Given the description of an element on the screen output the (x, y) to click on. 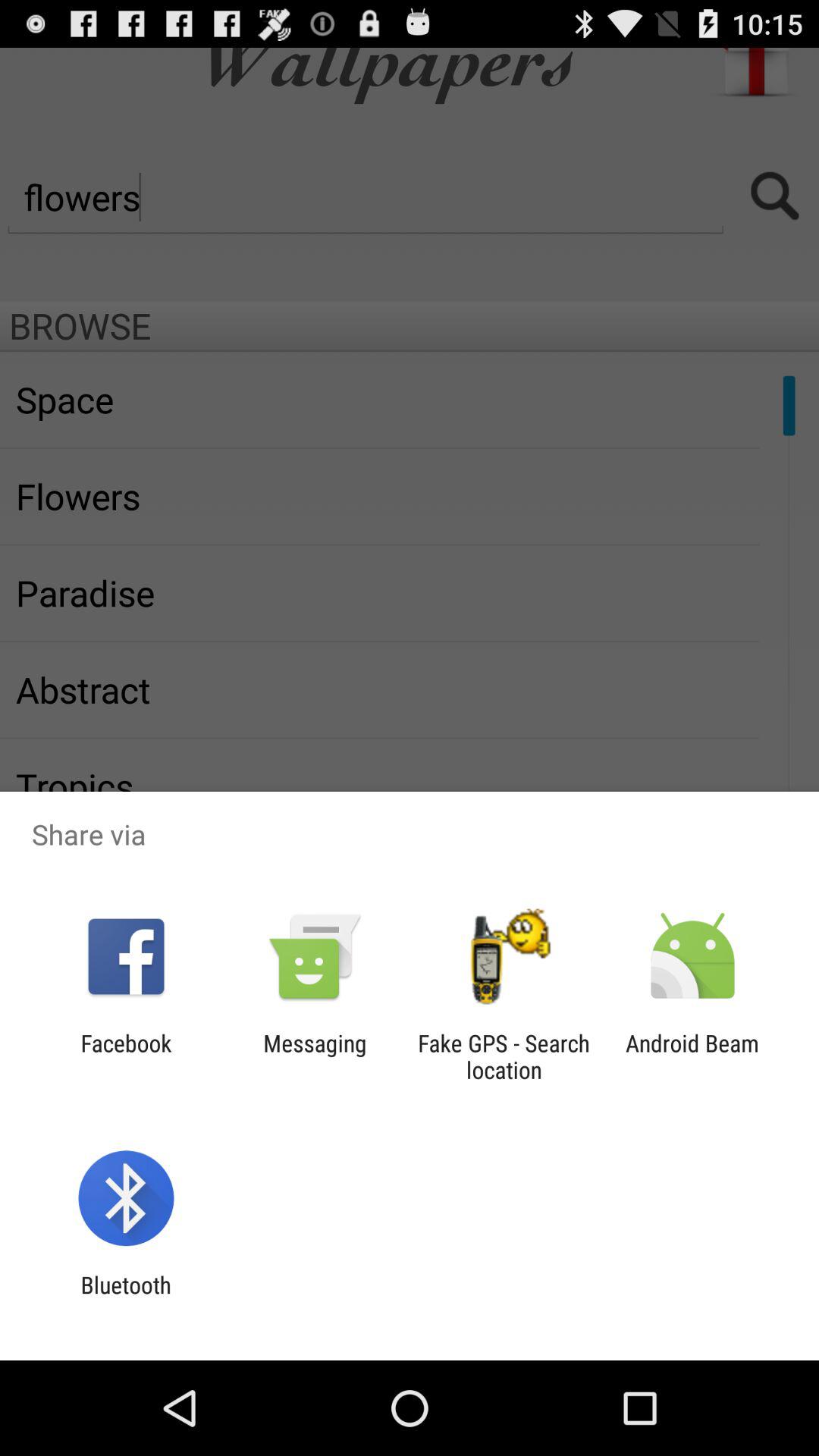
tap the icon to the right of the facebook app (314, 1056)
